Given the description of an element on the screen output the (x, y) to click on. 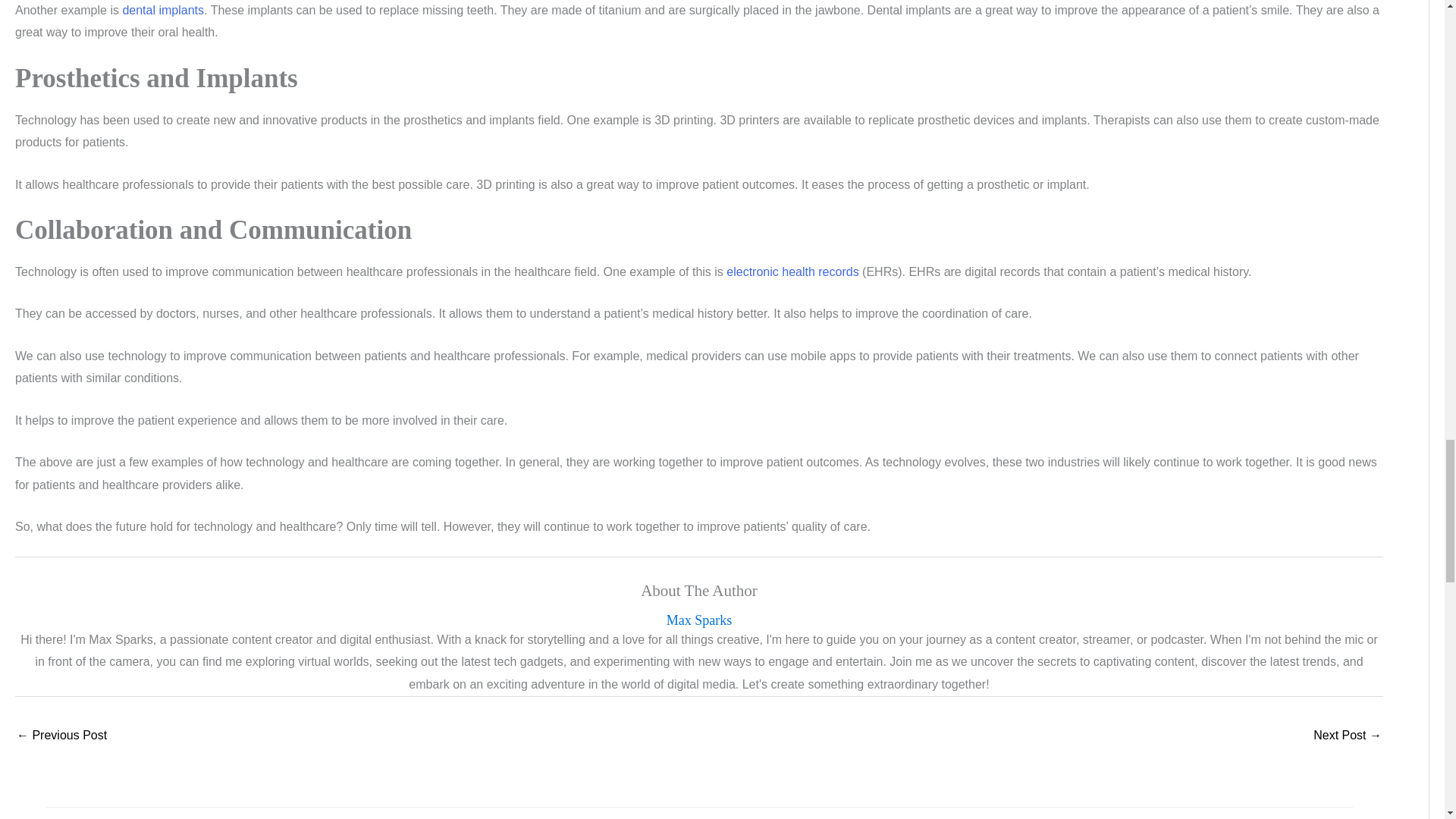
Using Technology to Help Businesses Reach New Markets (1347, 736)
dental implants (162, 10)
electronic health records (792, 271)
Max Sparks (698, 620)
